Given the description of an element on the screen output the (x, y) to click on. 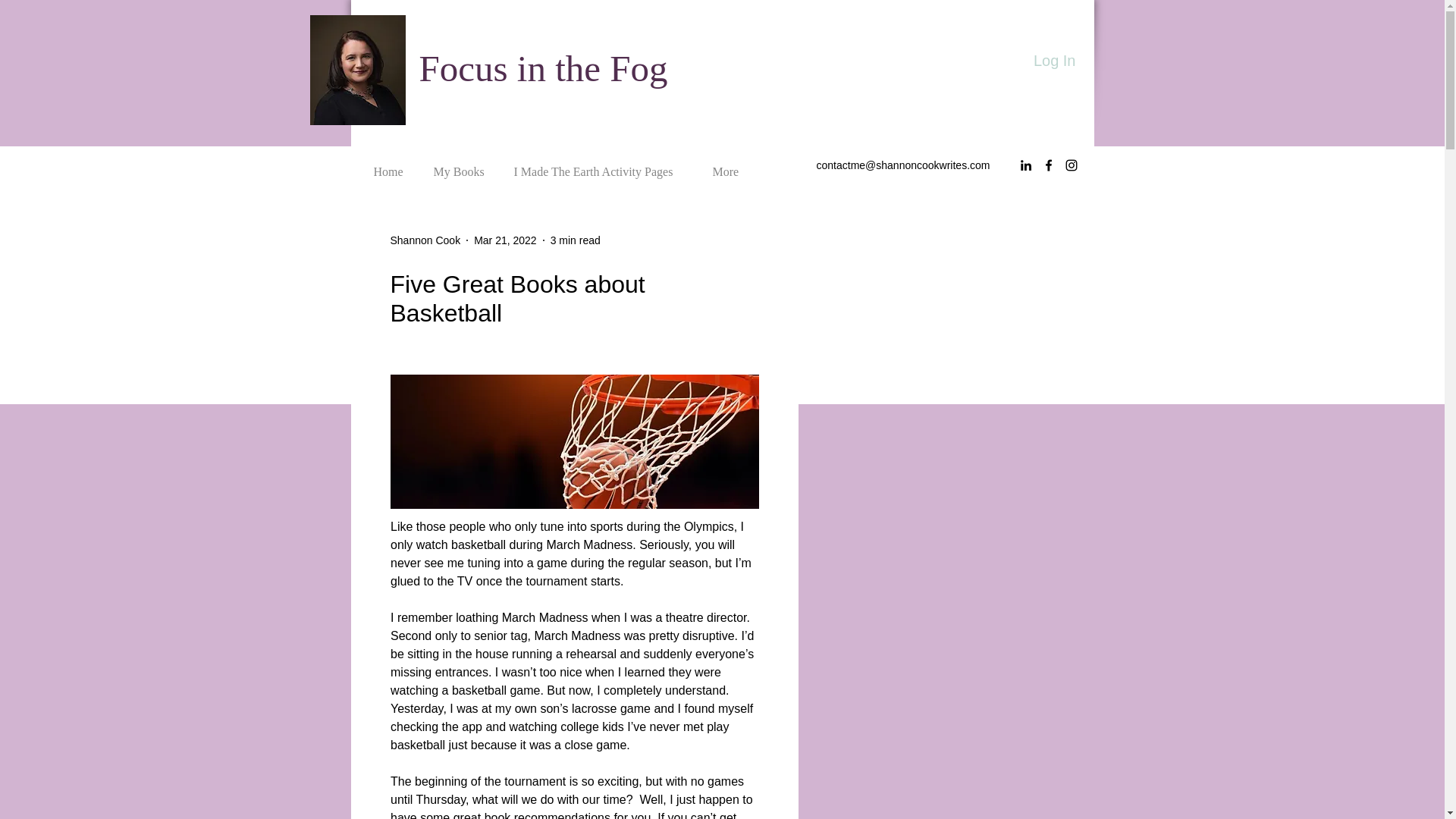
Mar 21, 2022 (505, 240)
3 min read (574, 240)
Shannon Cook (425, 240)
Shannon Cook (425, 240)
My Books (460, 164)
I Made The Earth Activity Pages (599, 164)
Home (389, 164)
Log In (1054, 60)
